Given the description of an element on the screen output the (x, y) to click on. 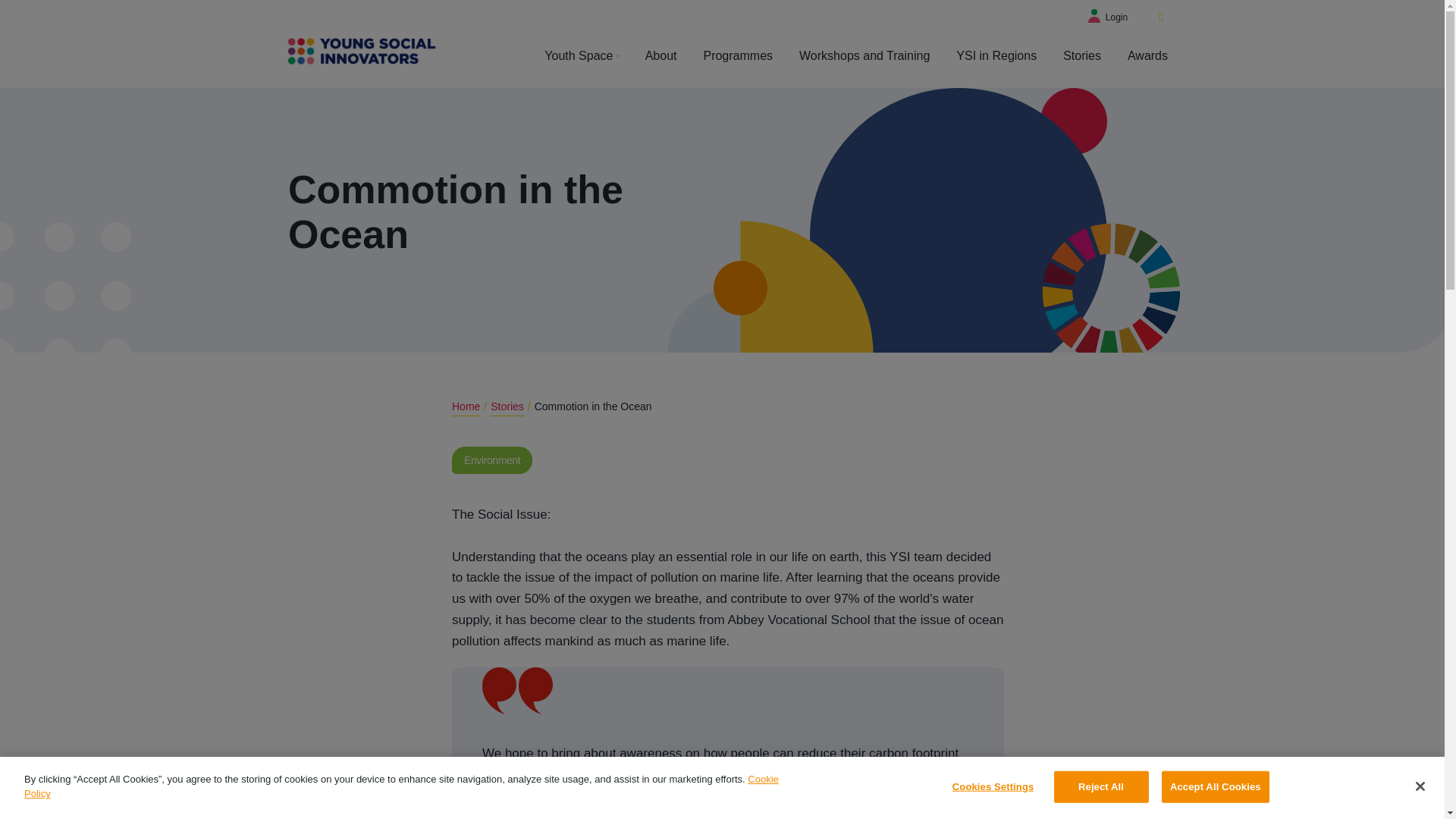
About (661, 55)
Stories (1081, 55)
Workshops and Training (864, 55)
Programmes (738, 55)
Awards (1146, 55)
YSI in Regions (996, 55)
Stories (507, 407)
Login (1106, 17)
Combined Shape Created with Sketch. (65, 294)
Youth Space (580, 55)
